Given the description of an element on the screen output the (x, y) to click on. 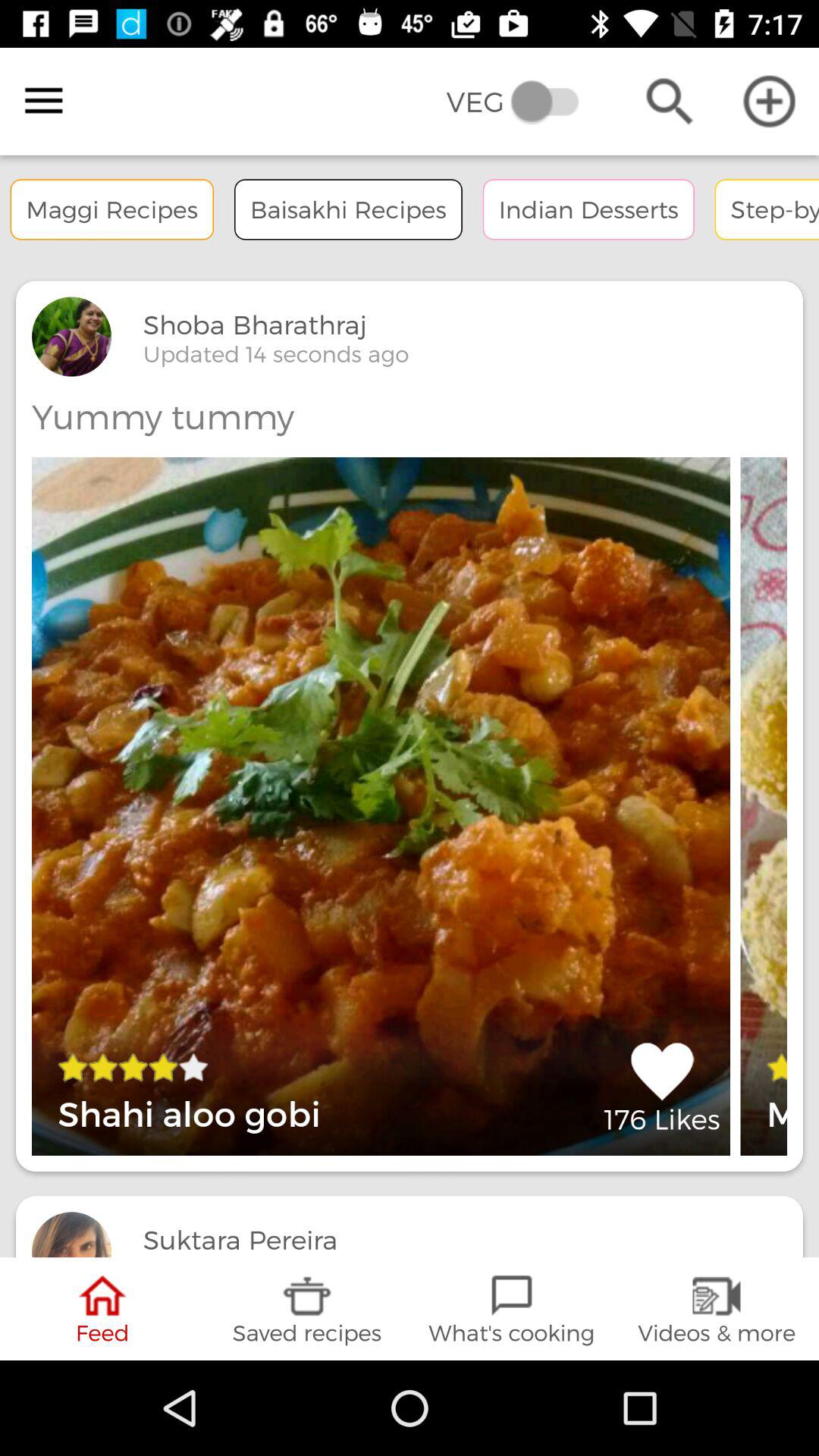
jump until saved recipes icon (306, 1308)
